Given the description of an element on the screen output the (x, y) to click on. 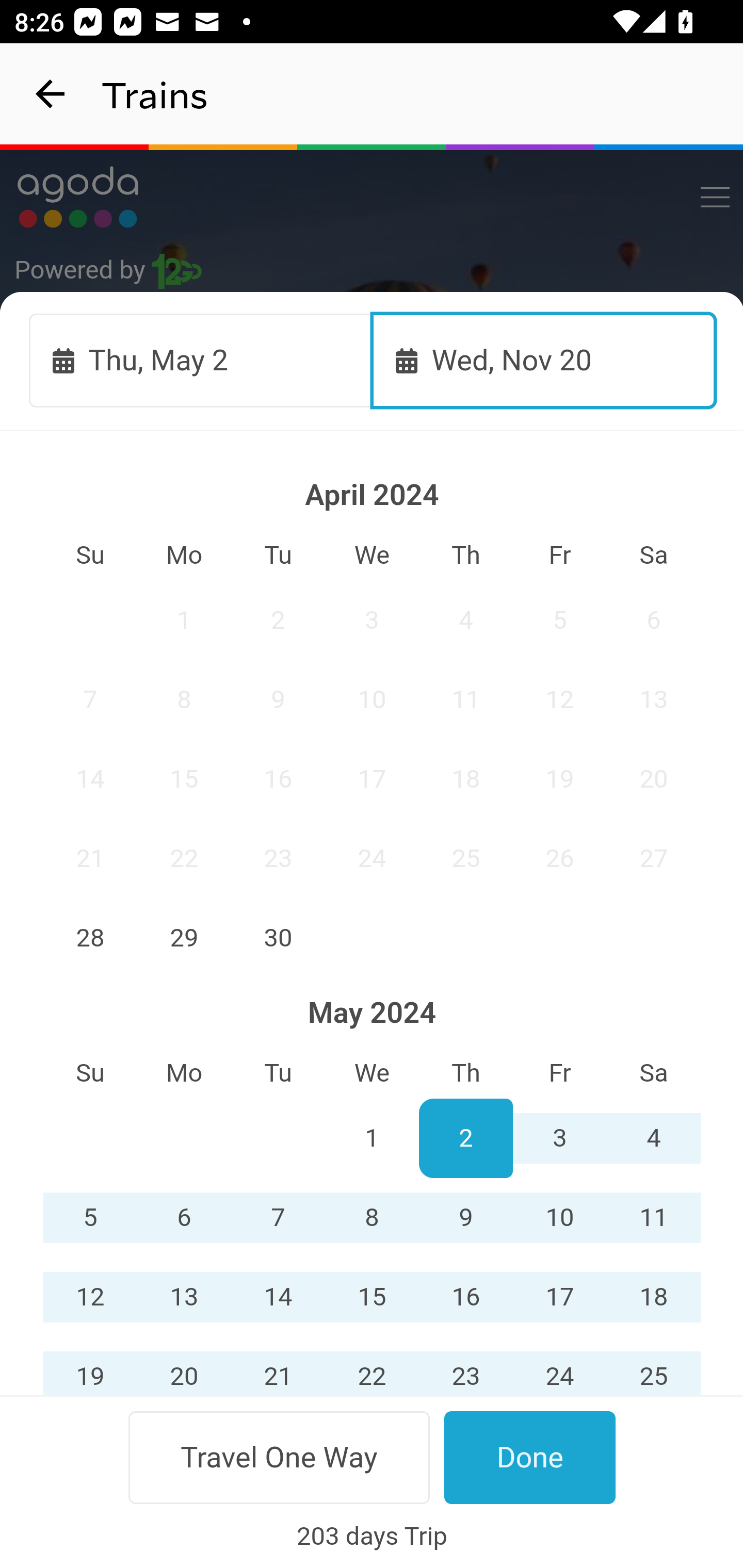
navigation_button (50, 93)
Thu, May 2 (200, 359)
Wed, Nov 20 (544, 359)
1 (184, 620)
2 (278, 620)
3 (372, 620)
4 (465, 620)
5 (559, 620)
6 (654, 620)
7 (90, 699)
8 (184, 699)
9 (278, 699)
10 (372, 699)
11 (465, 699)
12 (559, 699)
13 (654, 699)
14 (90, 779)
15 (184, 779)
16 (278, 779)
17 (372, 779)
18 (465, 779)
19 (559, 779)
20 (654, 779)
21 (90, 858)
22 (184, 858)
23 (278, 858)
24 (372, 858)
25 (465, 858)
26 (559, 858)
27 (654, 858)
28 (90, 937)
29 (184, 937)
30 (278, 937)
1 (372, 1138)
2 (465, 1138)
3 (559, 1138)
4 (654, 1138)
5 (90, 1218)
6 (184, 1218)
7 (278, 1218)
8 (372, 1218)
9 (465, 1218)
10 (559, 1218)
11 (654, 1218)
12 (90, 1296)
13 (184, 1296)
14 (278, 1296)
15 (372, 1296)
16 (465, 1296)
17 (559, 1296)
18 (654, 1296)
19 (90, 1365)
20 (184, 1365)
21 (278, 1365)
22 (372, 1365)
23 (465, 1365)
24 (559, 1365)
25 (654, 1365)
Done (530, 1457)
26 (90, 1456)
27 (184, 1456)
28 (278, 1456)
29 (372, 1456)
